Given the description of an element on the screen output the (x, y) to click on. 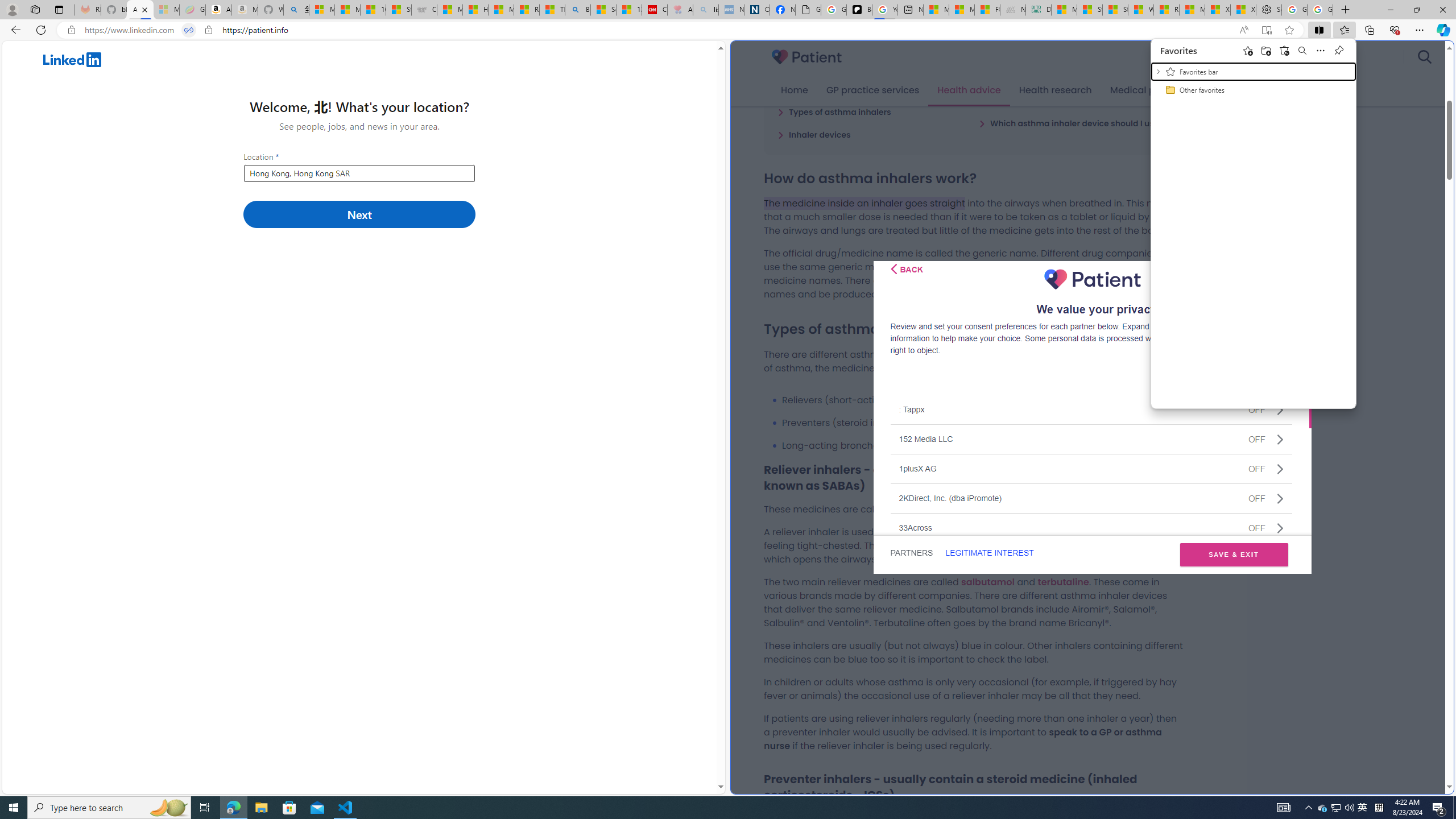
Health advice (969, 90)
1plusX AGOFF (1090, 468)
Google Analytics Opt-out Browser Add-on Download Page (807, 9)
33AcrossOFF (1090, 527)
Patient 3.0 (807, 56)
